Given the description of an element on the screen output the (x, y) to click on. 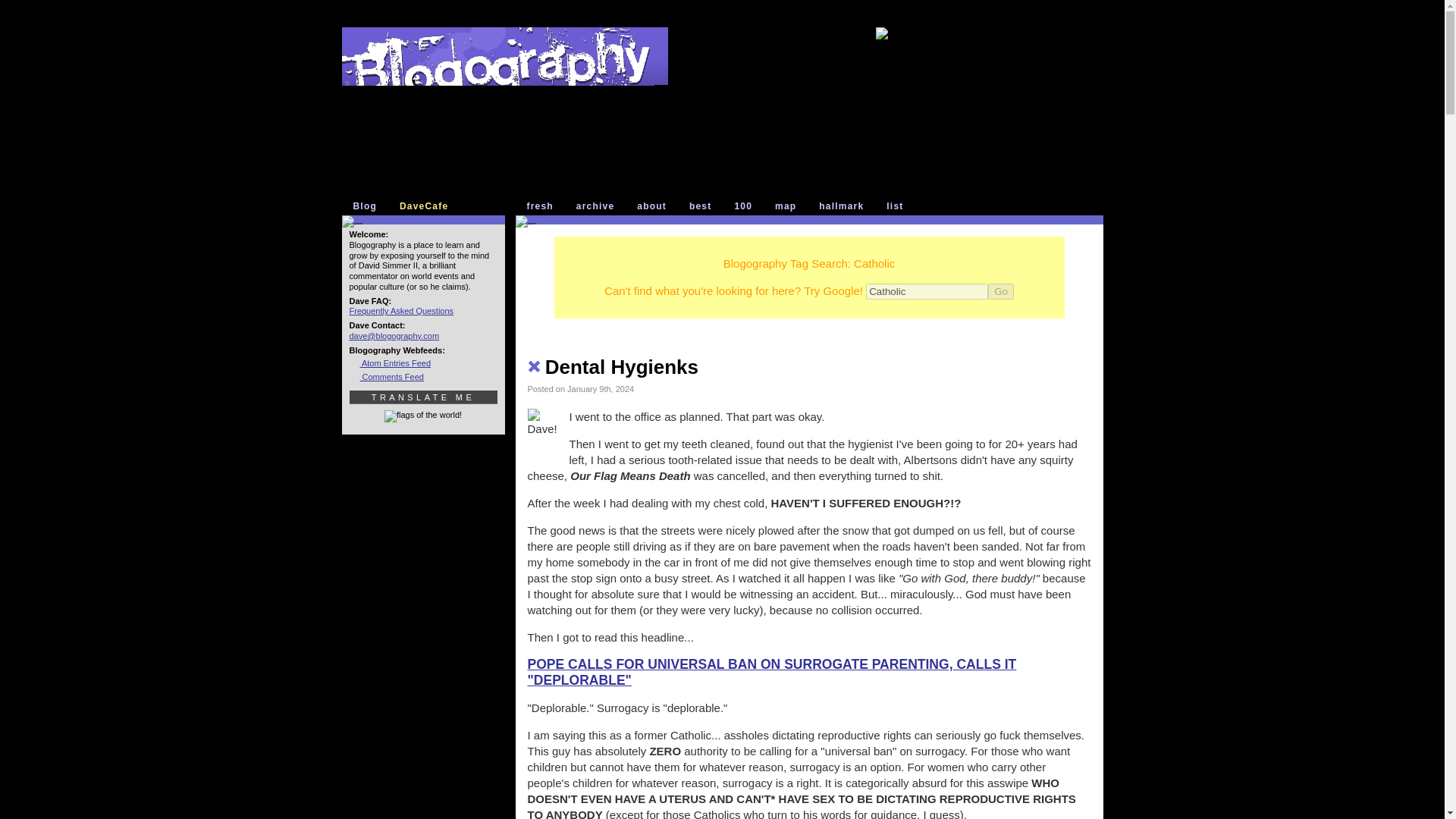
fresh (542, 206)
archive (599, 206)
best (703, 206)
about (654, 206)
